Given the description of an element on the screen output the (x, y) to click on. 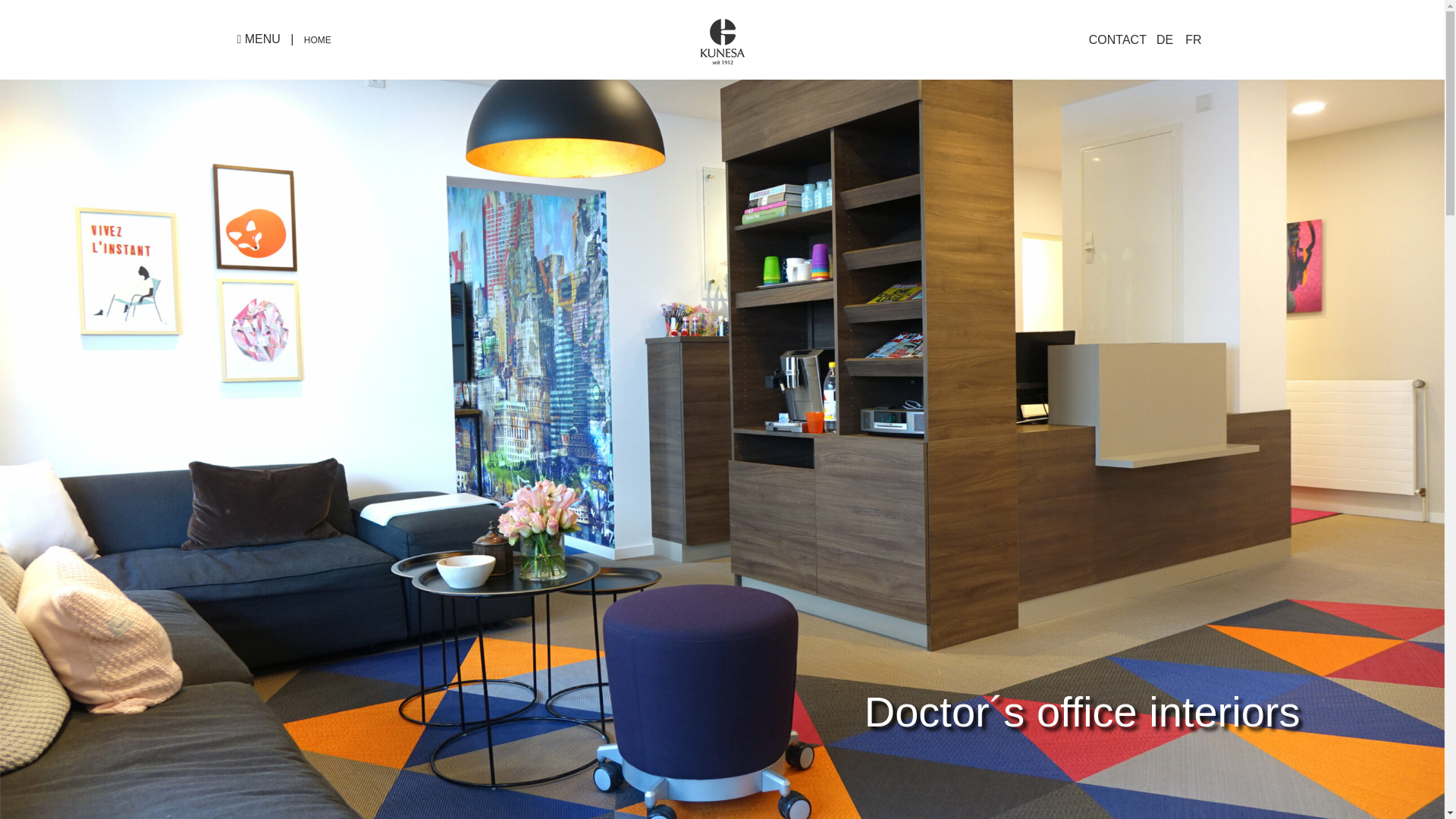
HOME (317, 40)
CONTACT (1118, 39)
Start page (317, 40)
